Given the description of an element on the screen output the (x, y) to click on. 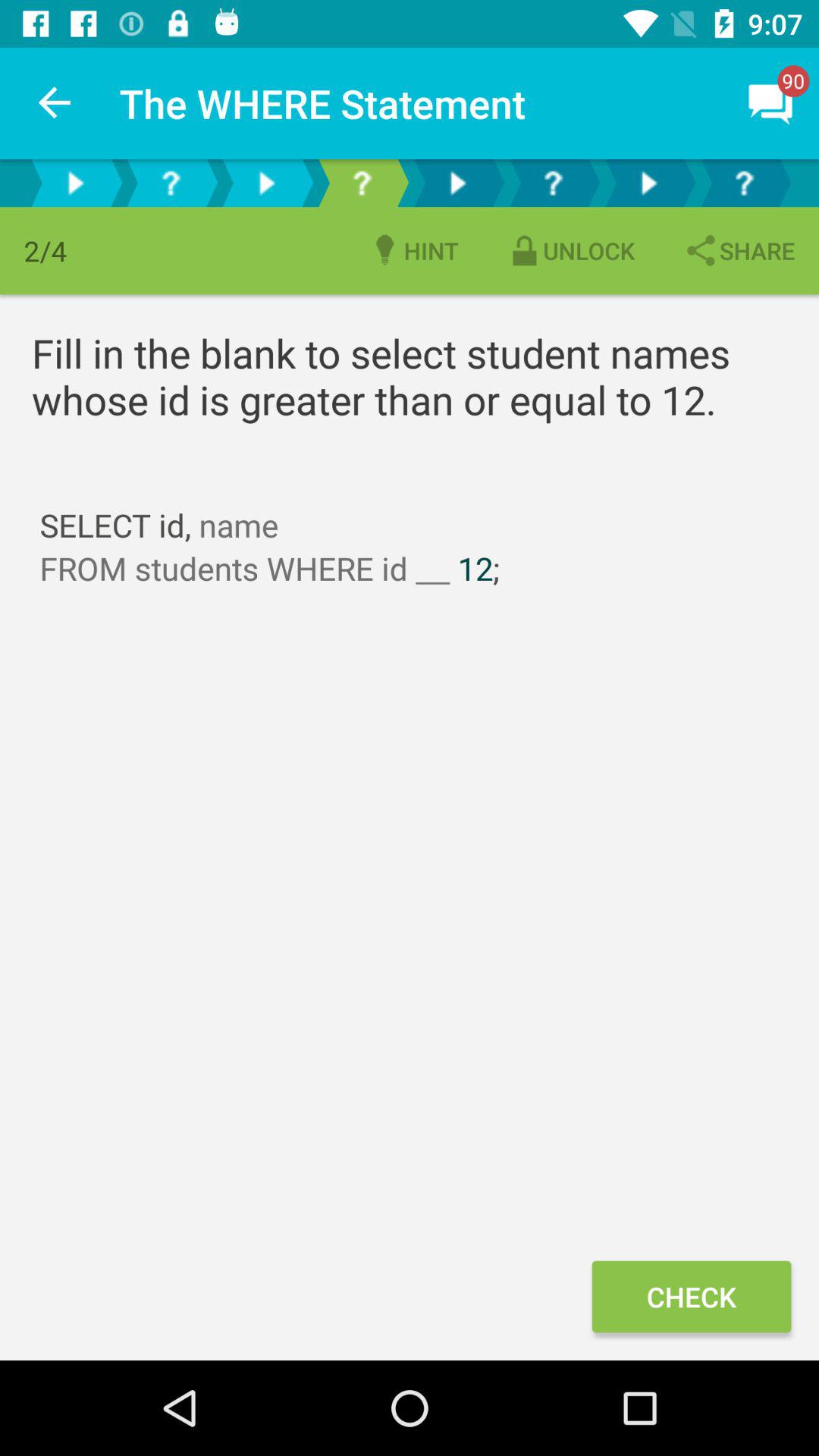
question mark icone (361, 183)
